Given the description of an element on the screen output the (x, y) to click on. 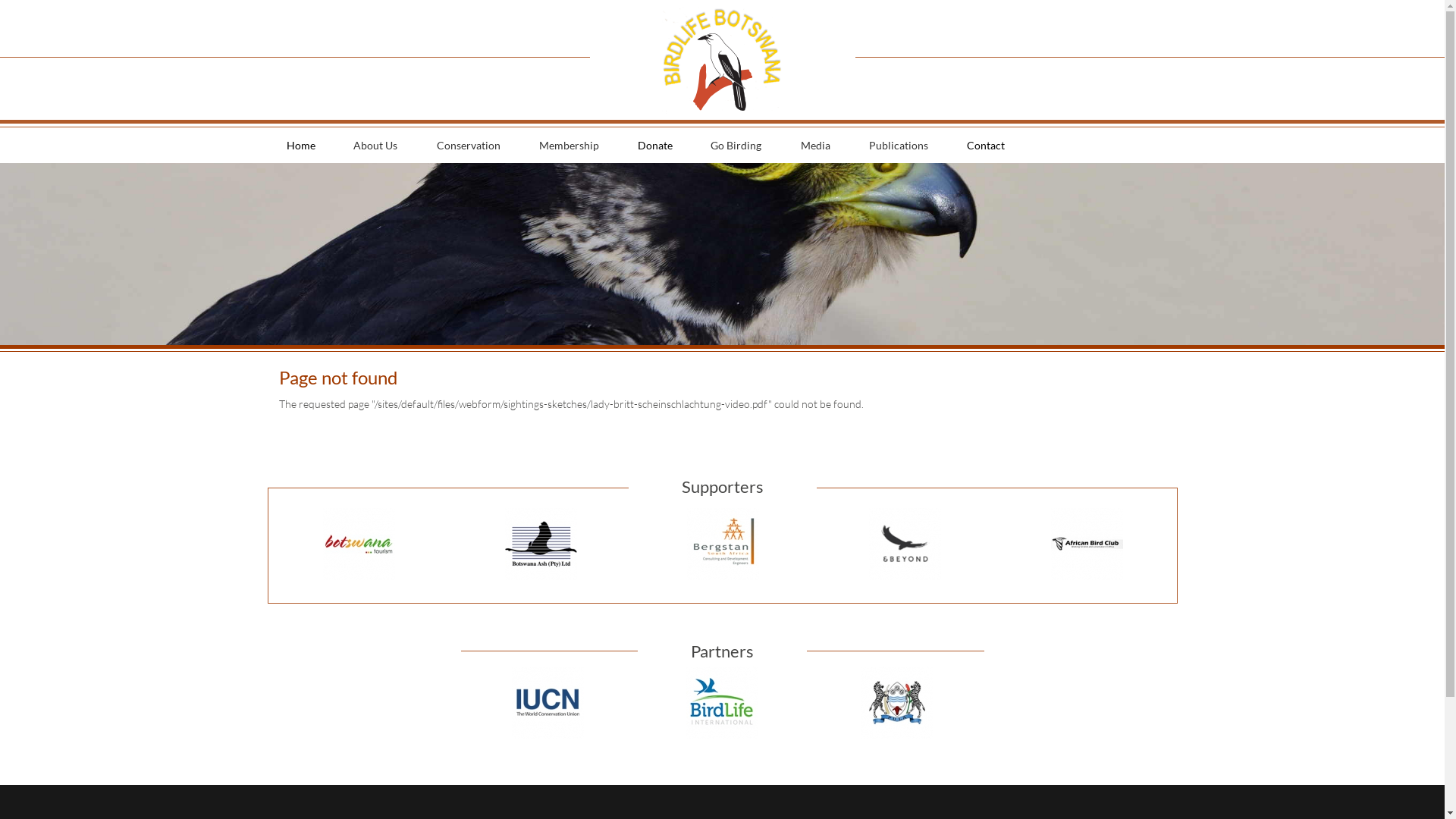
Skip to main content Element type: text (46, 0)
Contact Element type: text (984, 145)
Home Element type: hover (721, 58)
Donate Element type: text (654, 145)
Home Element type: text (299, 145)
